Given the description of an element on the screen output the (x, y) to click on. 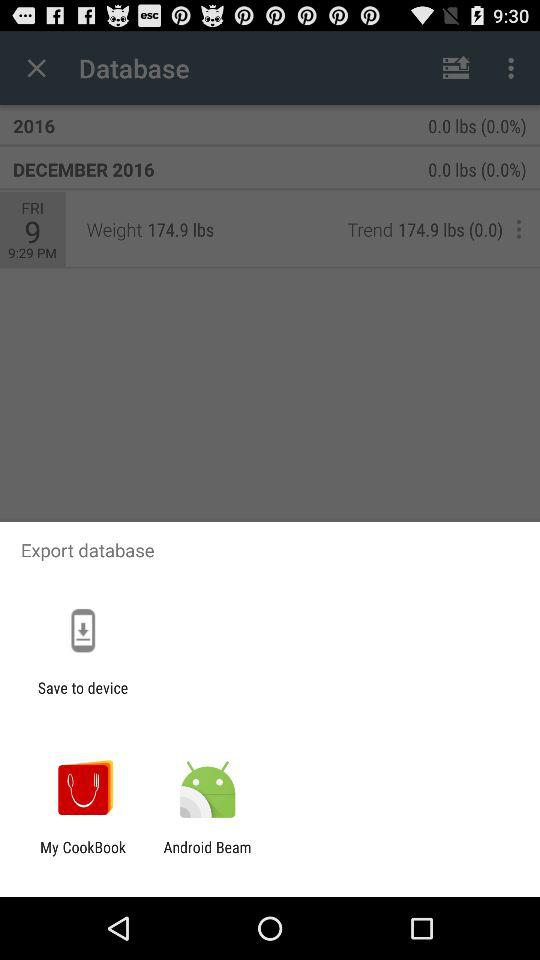
jump to the android beam (207, 856)
